Given the description of an element on the screen output the (x, y) to click on. 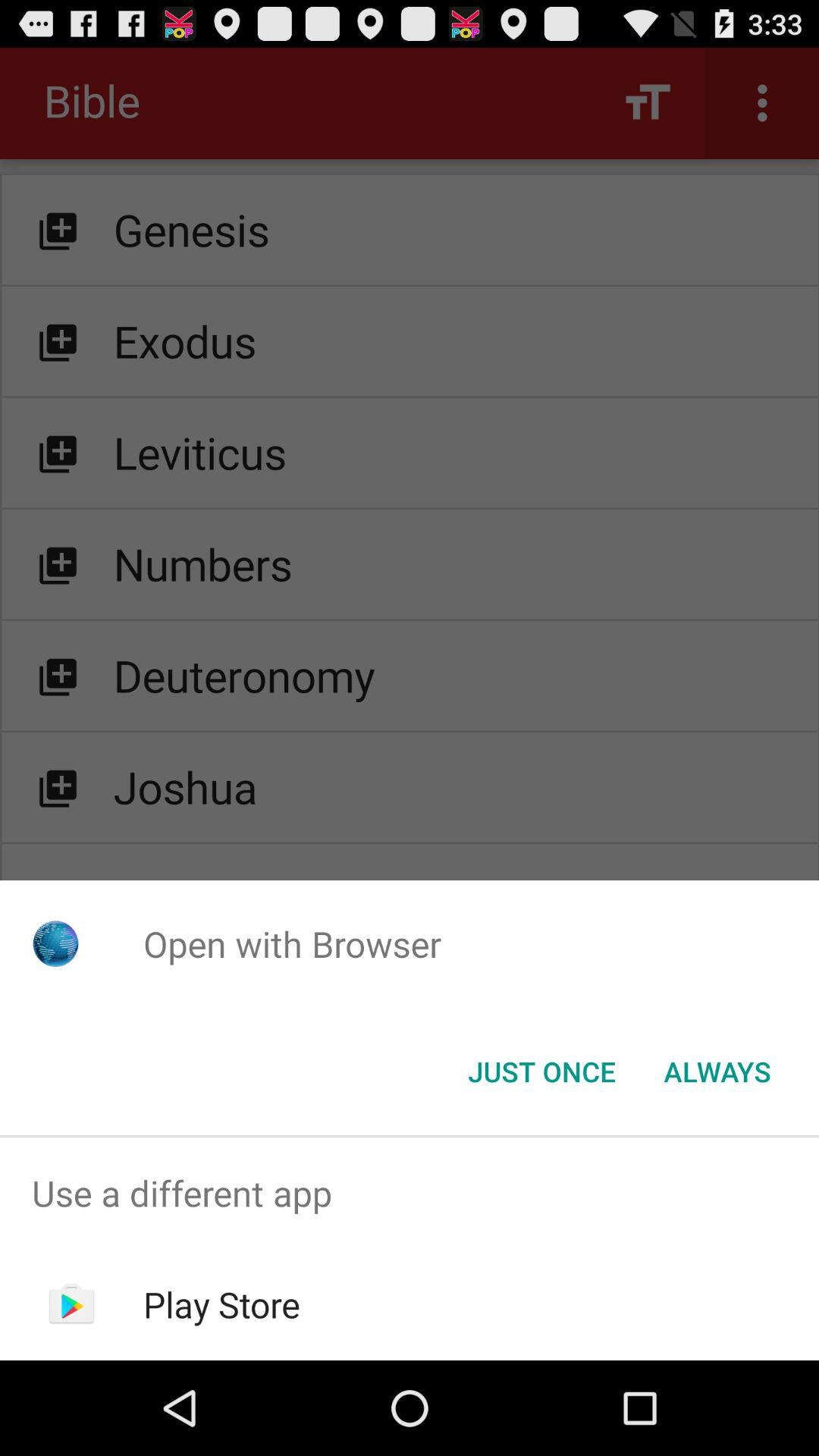
turn on the use a different item (409, 1192)
